Given the description of an element on the screen output the (x, y) to click on. 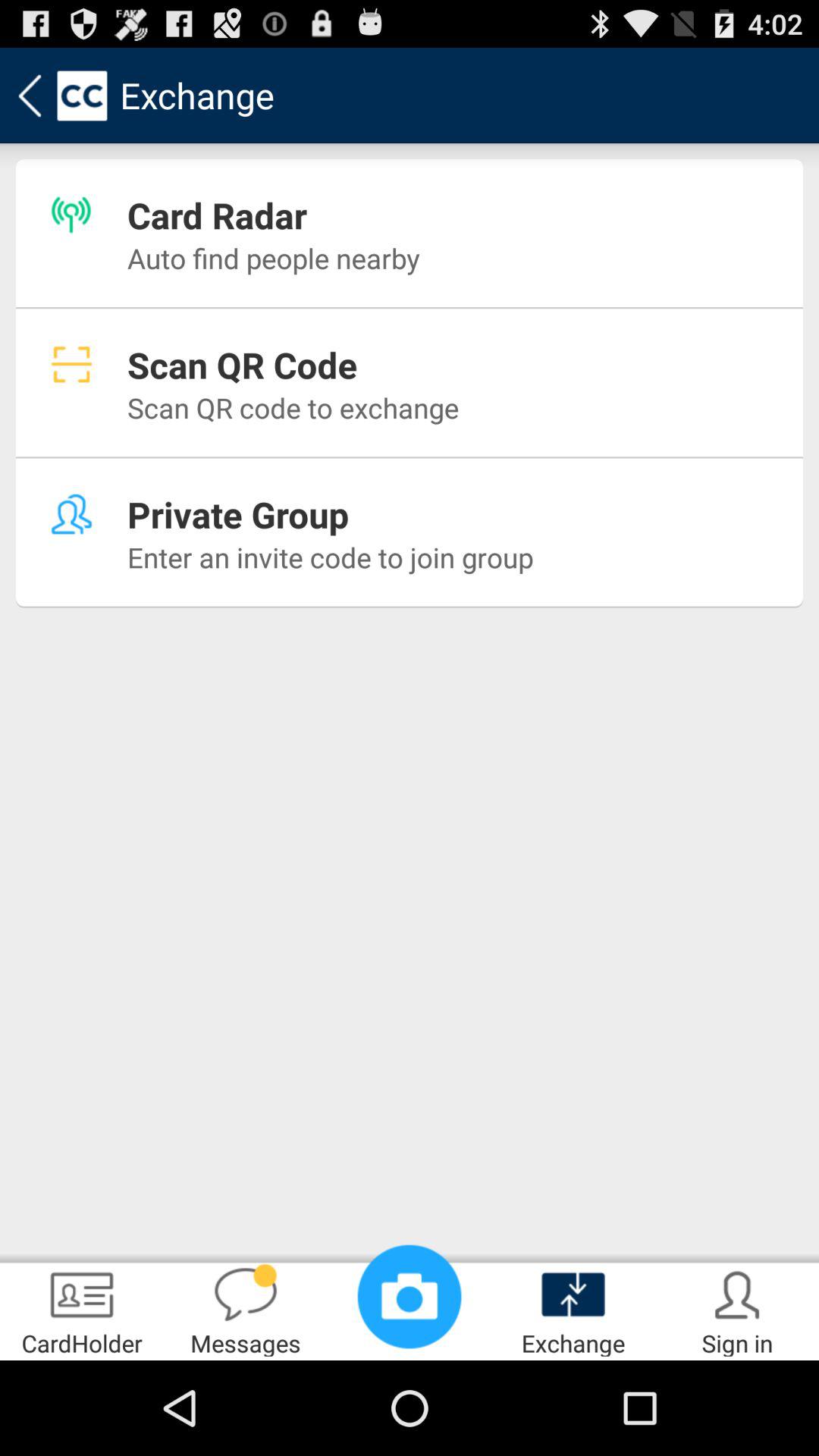
tap the item below the enter an invite item (409, 1296)
